Given the description of an element on the screen output the (x, y) to click on. 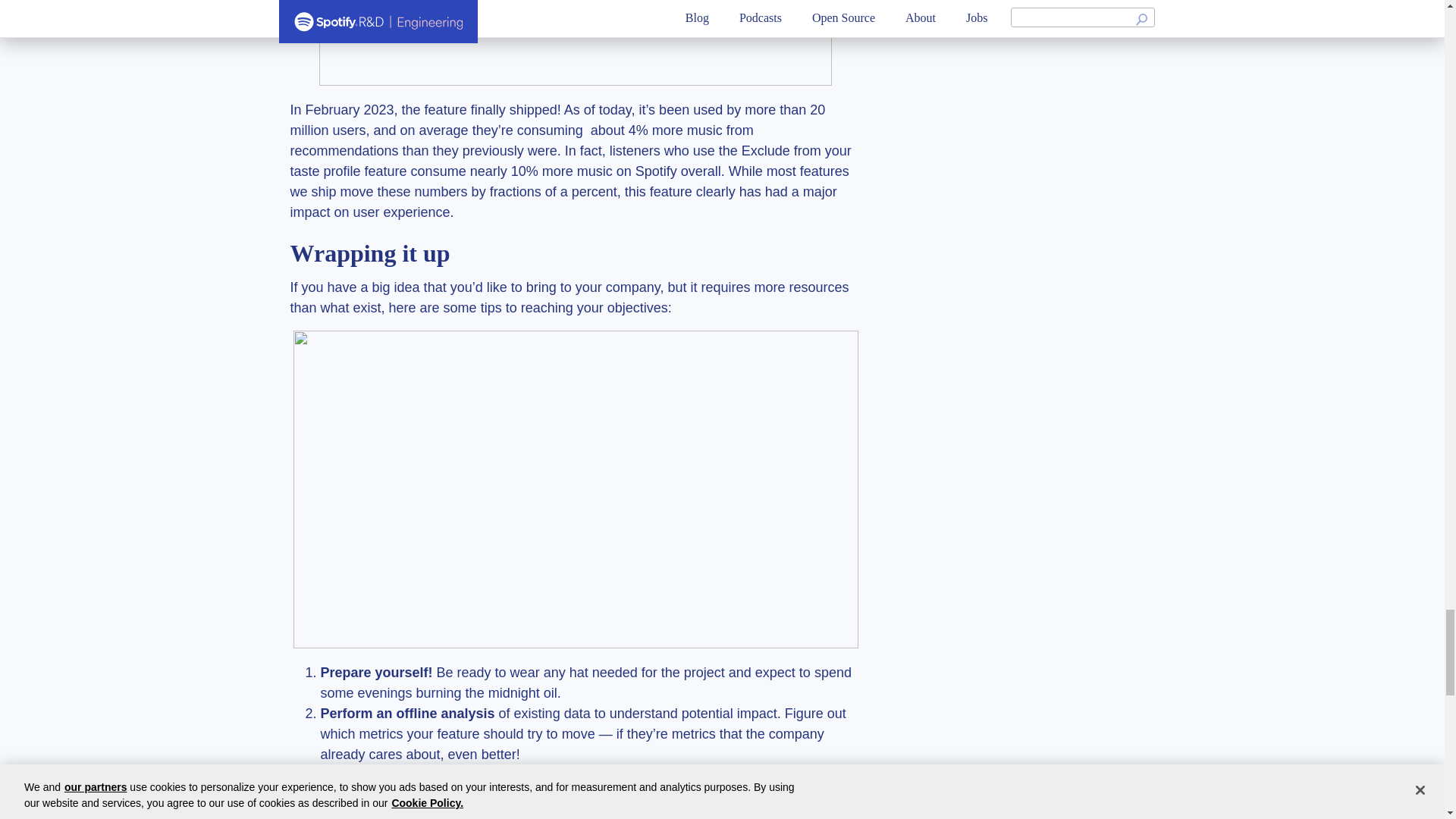
painted door (525, 795)
